Given the description of an element on the screen output the (x, y) to click on. 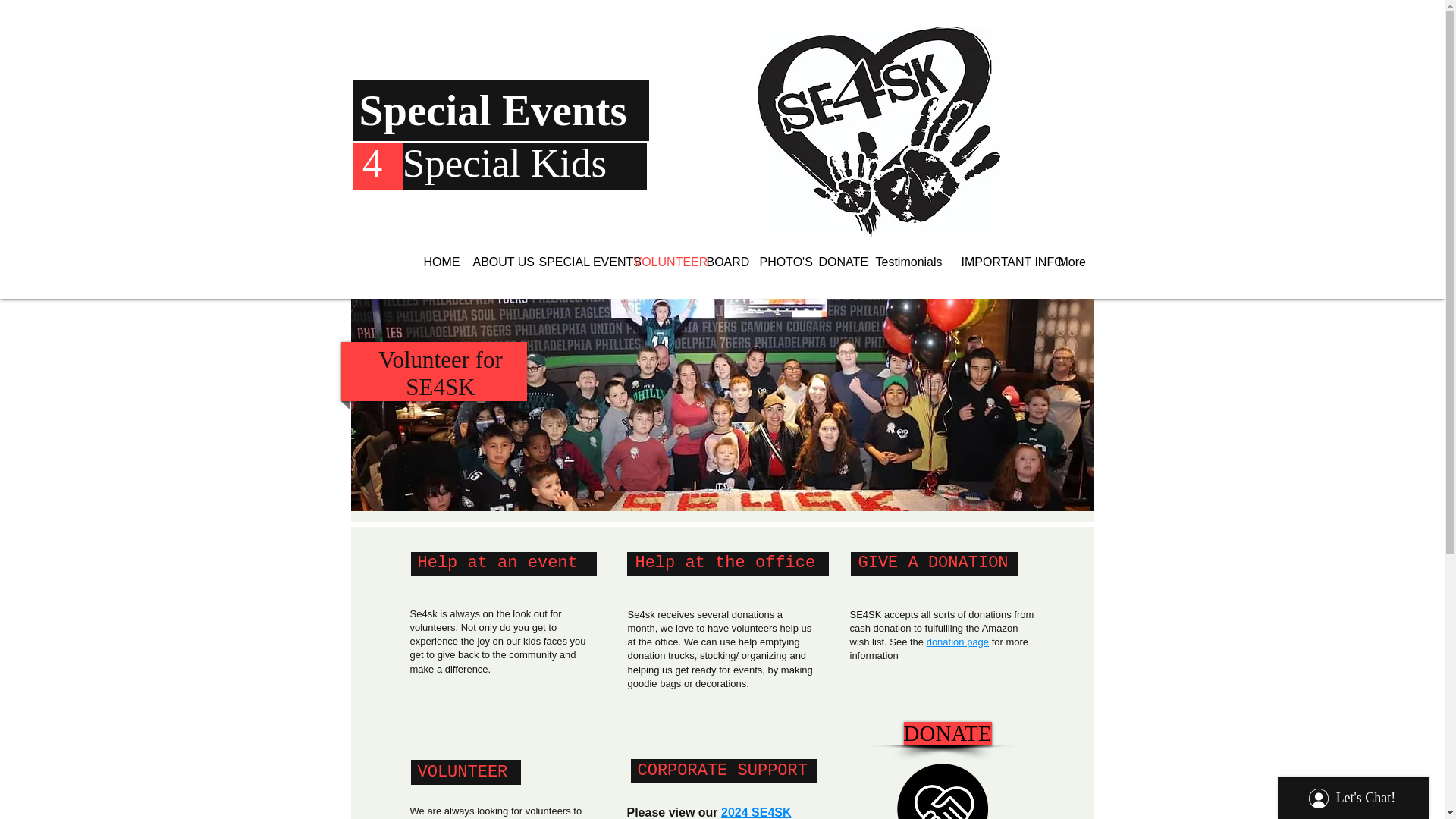
ABOUT US (494, 261)
IMPORTANT INFO (997, 261)
2024 SE4SK Sponsor donation letter (708, 812)
BOARD (721, 261)
DONATE (947, 733)
donation page (957, 641)
HOME (436, 261)
PHOTO'S (777, 261)
SPECIAL EVENTS (575, 261)
Testimonials (907, 261)
